Given the description of an element on the screen output the (x, y) to click on. 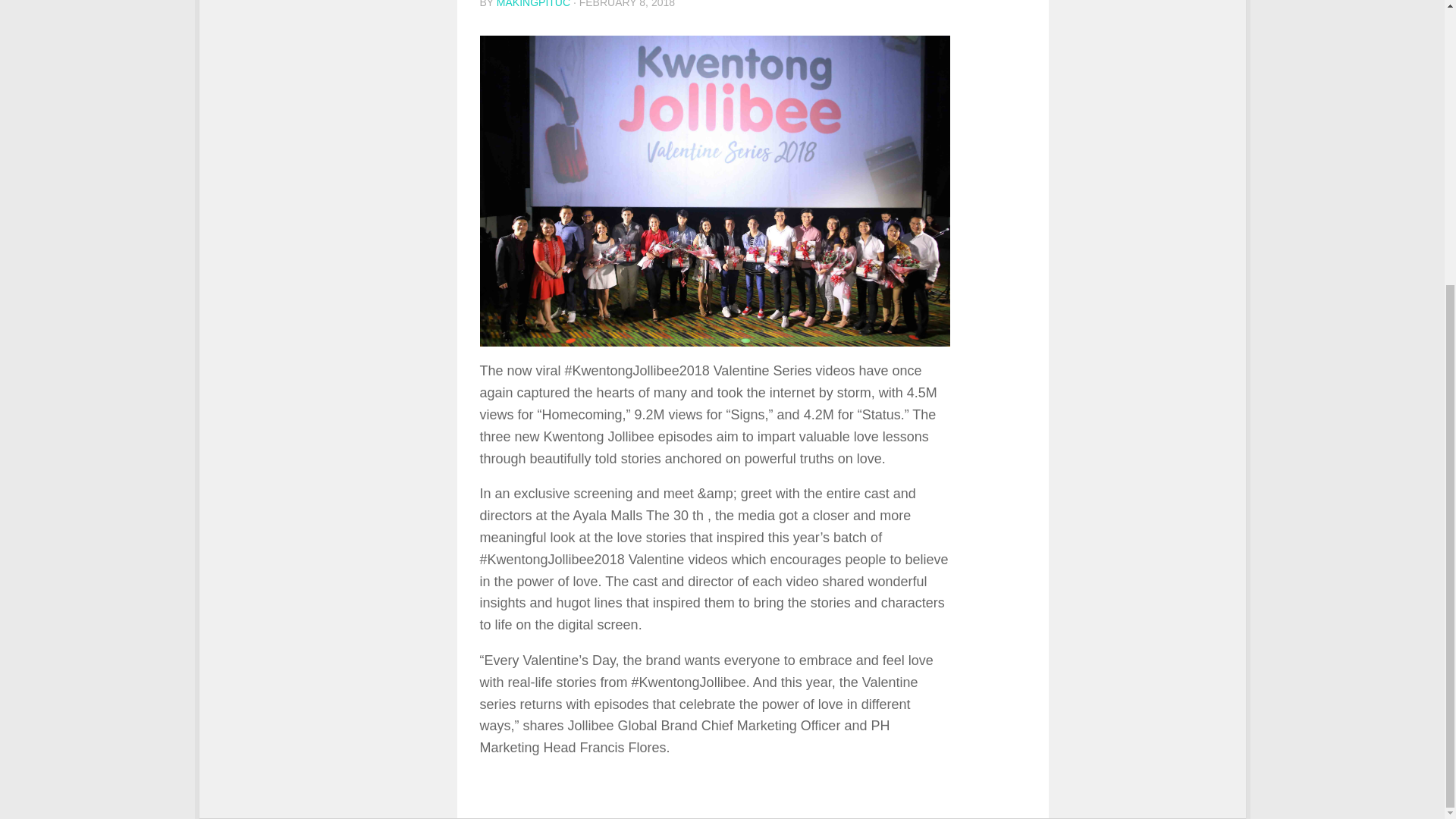
Posts by makingpituc (533, 4)
